Given the description of an element on the screen output the (x, y) to click on. 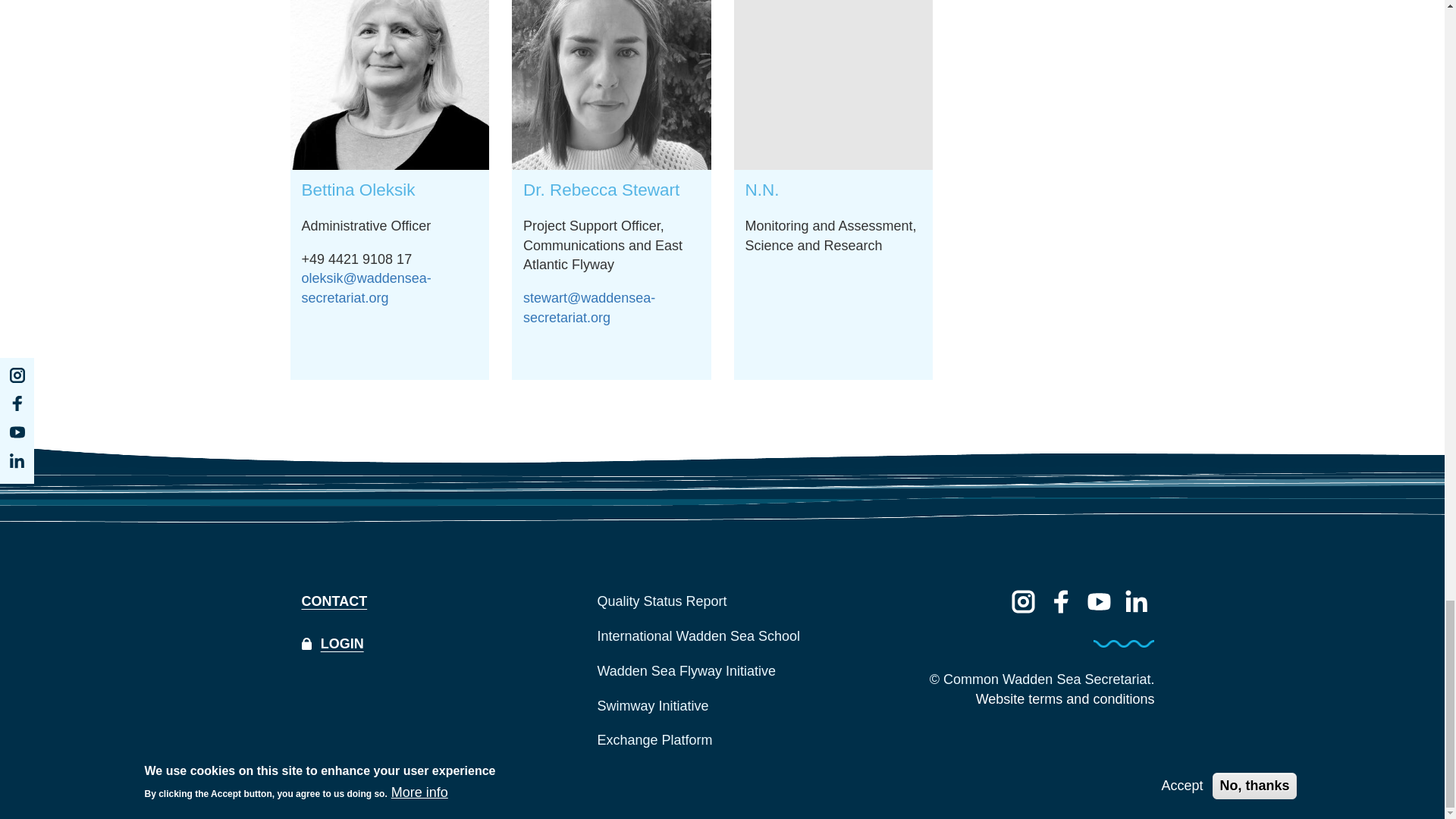
Link to the Swimway Initiative website (722, 706)
Link to the International Wadden Sea School website (722, 636)
Rebecca Stewart. Private. (611, 84)
Link to the Wadden Sea Flyway Initiative website (722, 671)
Link to the online Wadden Sea Quality Status Report (722, 601)
